Given the description of an element on the screen output the (x, y) to click on. 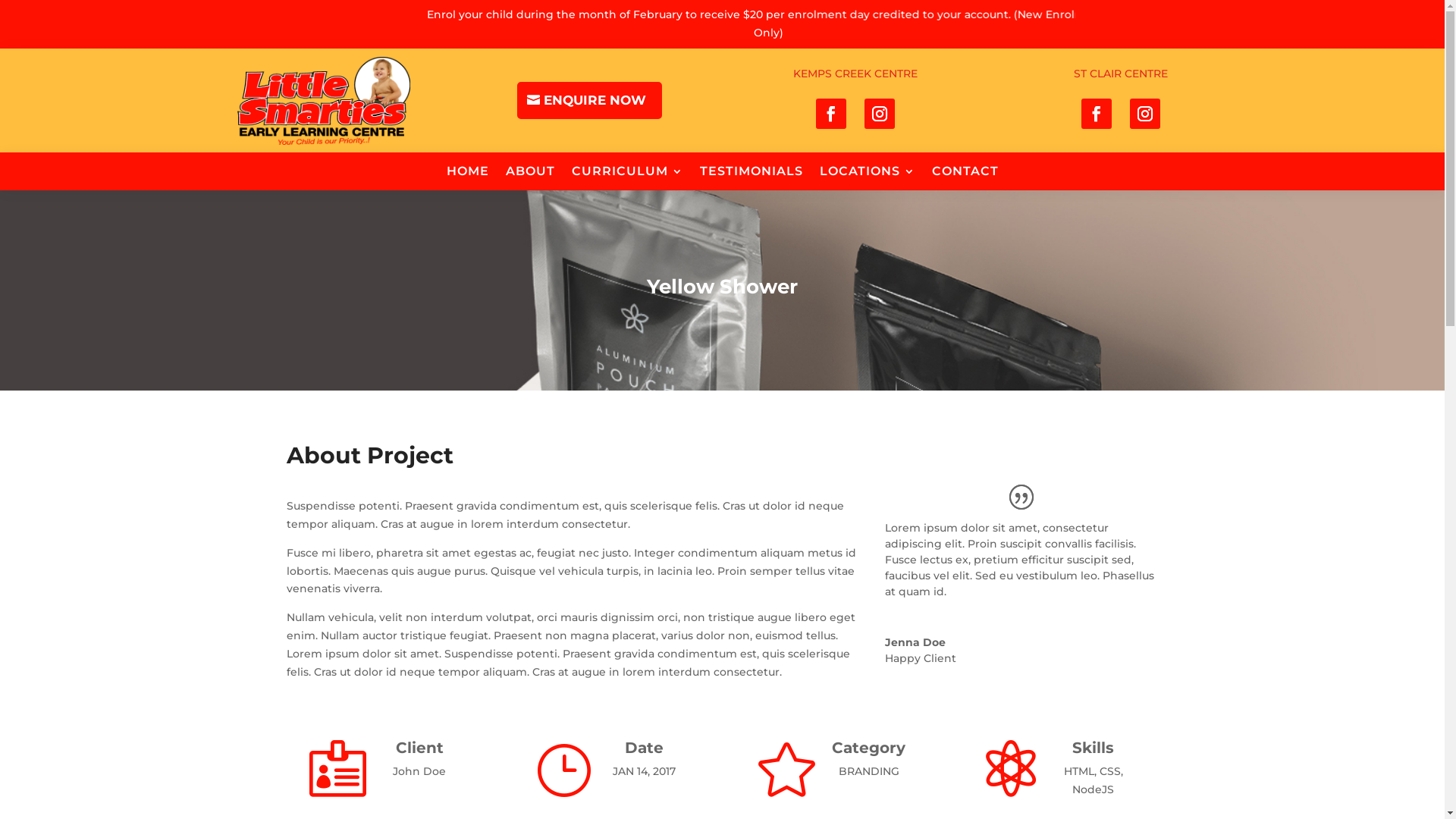
TESTIMONIALS Element type: text (750, 174)
Follow on Facebook Element type: hover (1096, 113)
HOME Element type: text (466, 174)
ABOUT Element type: text (529, 174)
Follow on Instagram Element type: hover (879, 113)
LOCATIONS Element type: text (866, 174)
littleSmarties-logo Element type: hover (323, 100)
ENQUIRE NOW Element type: text (589, 100)
Follow on Facebook Element type: hover (830, 113)
CURRICULUM Element type: text (627, 174)
Follow on Instagram Element type: hover (1144, 113)
CONTACT Element type: text (964, 174)
